Given the description of an element on the screen output the (x, y) to click on. 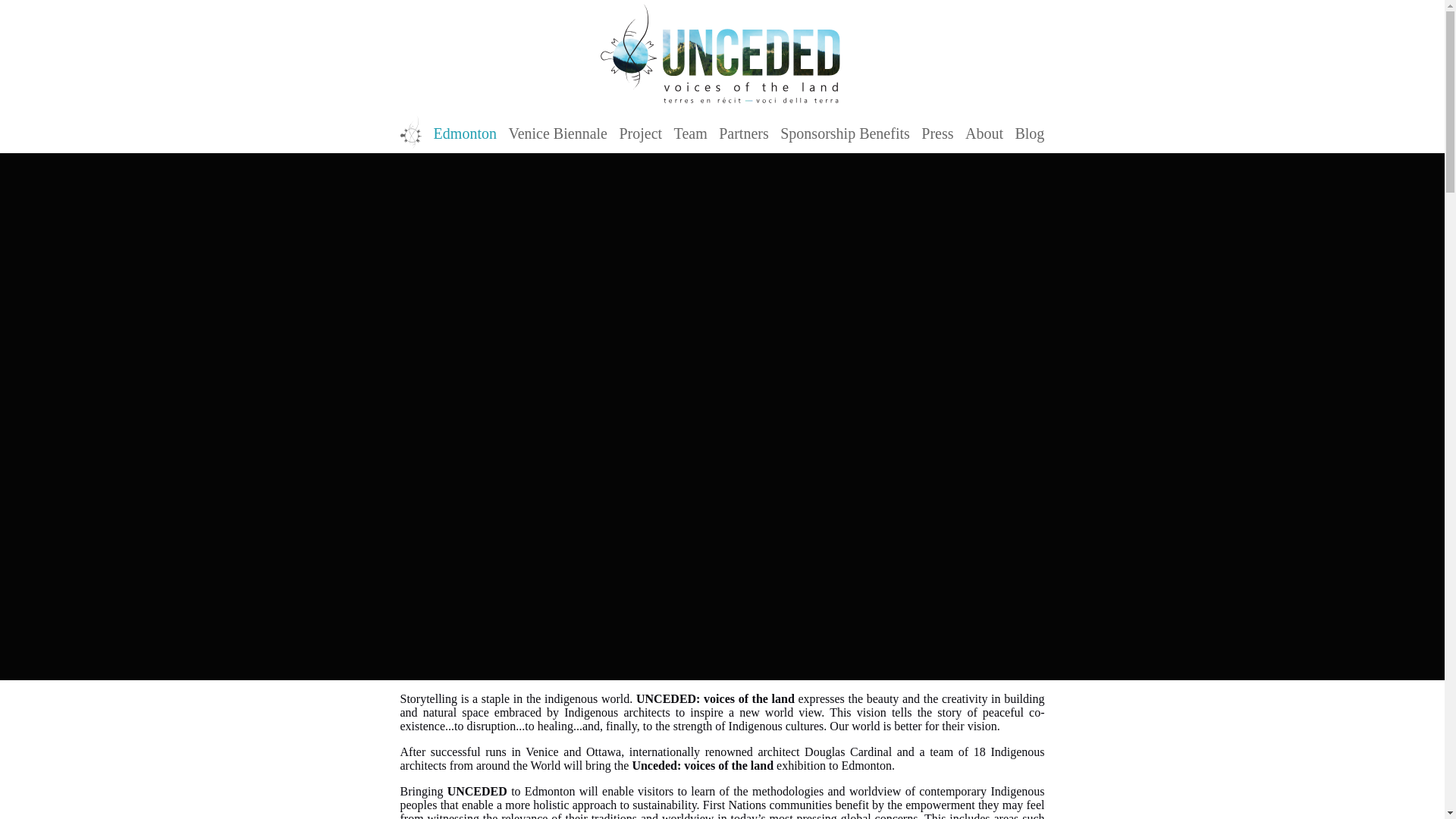
Partners (743, 132)
Project (640, 132)
Press (937, 132)
Venice Biennale (557, 132)
Edmonton (464, 132)
Sponsorship Benefits (845, 132)
Blog (1028, 132)
About (984, 132)
Team (690, 132)
